Given the description of an element on the screen output the (x, y) to click on. 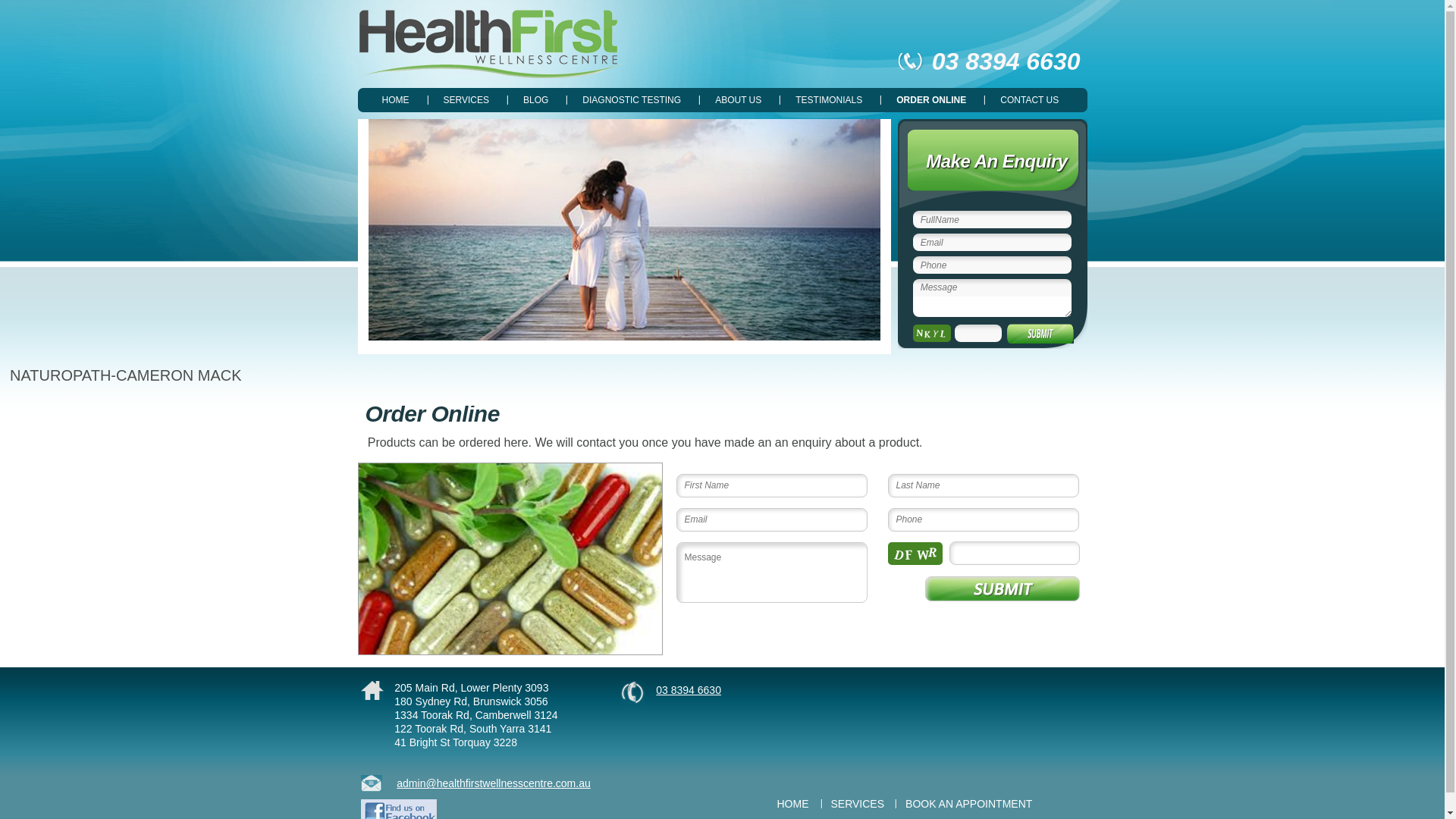
BOOK AN APPOINTMENT Element type: text (968, 803)
Health First Wellness Centre Element type: text (490, 43)
SERVICES Element type: text (857, 803)
HOME Element type: text (792, 803)
NATUROPATH-CAMERON MACK Element type: text (125, 375)
Send Element type: text (1040, 336)
DIAGNOSTIC TESTING Element type: text (631, 99)
admin@healthfirstwellnesscentre.com.au Element type: text (474, 783)
TESTIMONIALS Element type: text (829, 99)
Send Element type: text (1002, 588)
CONTACT US Element type: text (1029, 99)
HOME Element type: text (396, 99)
ABOUT US Element type: text (738, 99)
ORDER ONLINE Element type: text (931, 99)
BLOG Element type: text (536, 99)
SERVICES Element type: text (465, 99)
